Given the description of an element on the screen output the (x, y) to click on. 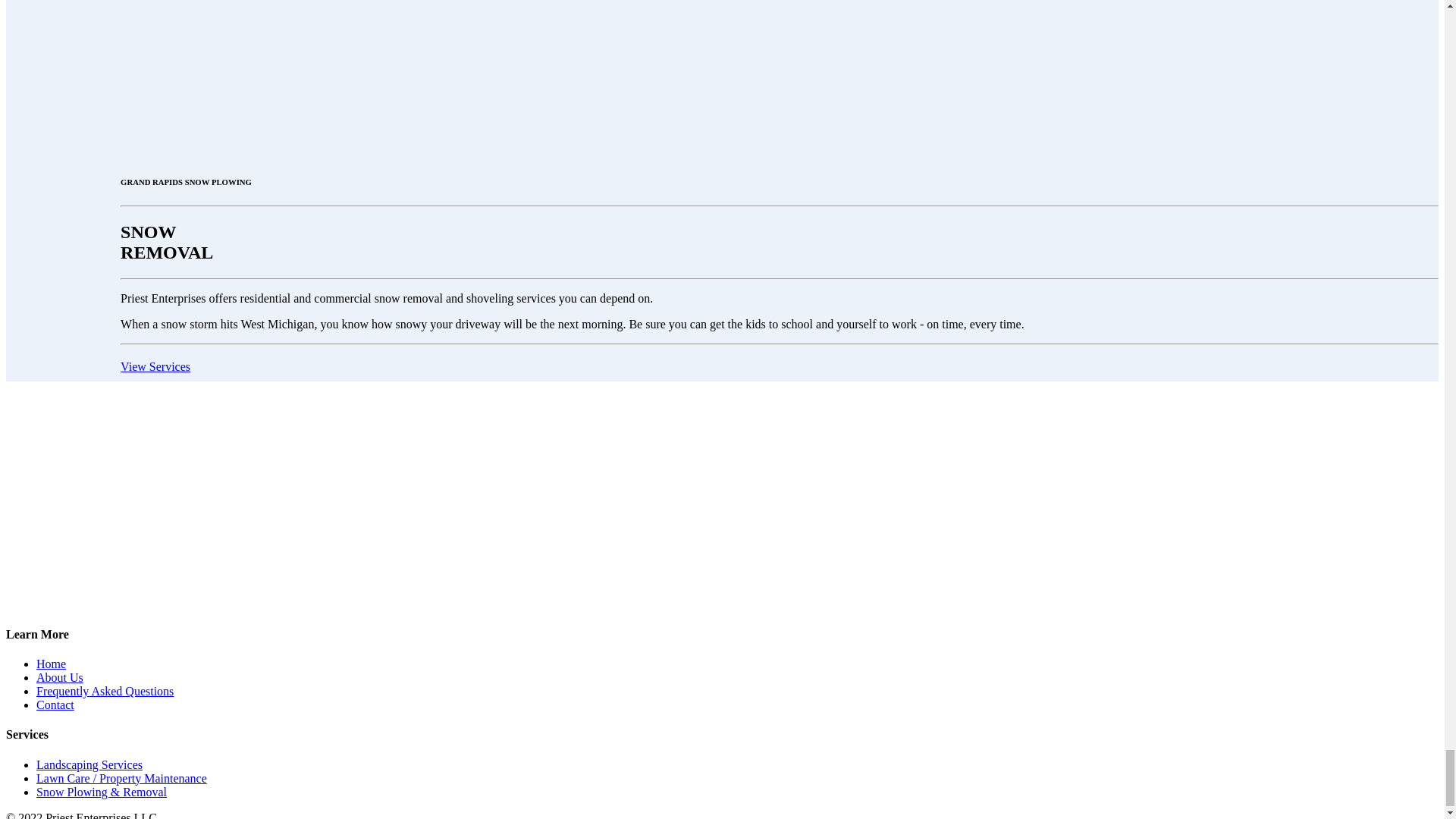
Landscaping Services (89, 764)
Contact (55, 704)
Frequently Asked Questions (104, 690)
Home (50, 663)
About Us (59, 676)
View Services (155, 366)
